Given the description of an element on the screen output the (x, y) to click on. 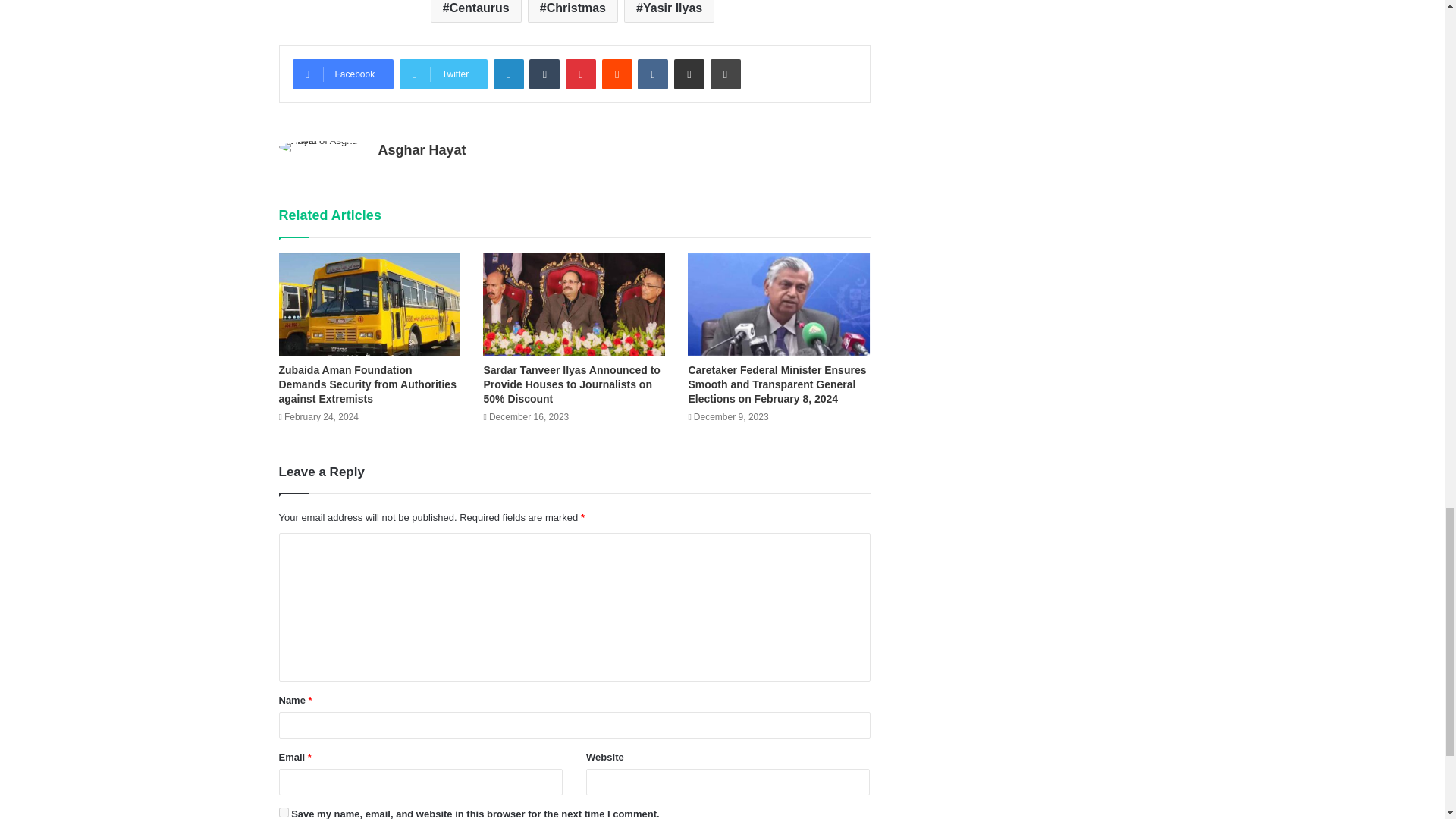
Facebook (343, 73)
Pinterest (580, 73)
Reddit (616, 73)
Share via Email (689, 73)
Facebook (343, 73)
Twitter (442, 73)
Pinterest (580, 73)
yes (283, 812)
LinkedIn (508, 73)
Tumblr (544, 73)
Asghar Hayat (421, 150)
Print (725, 73)
Twitter (442, 73)
Share via Email (689, 73)
Yasir Ilyas (669, 11)
